Given the description of an element on the screen output the (x, y) to click on. 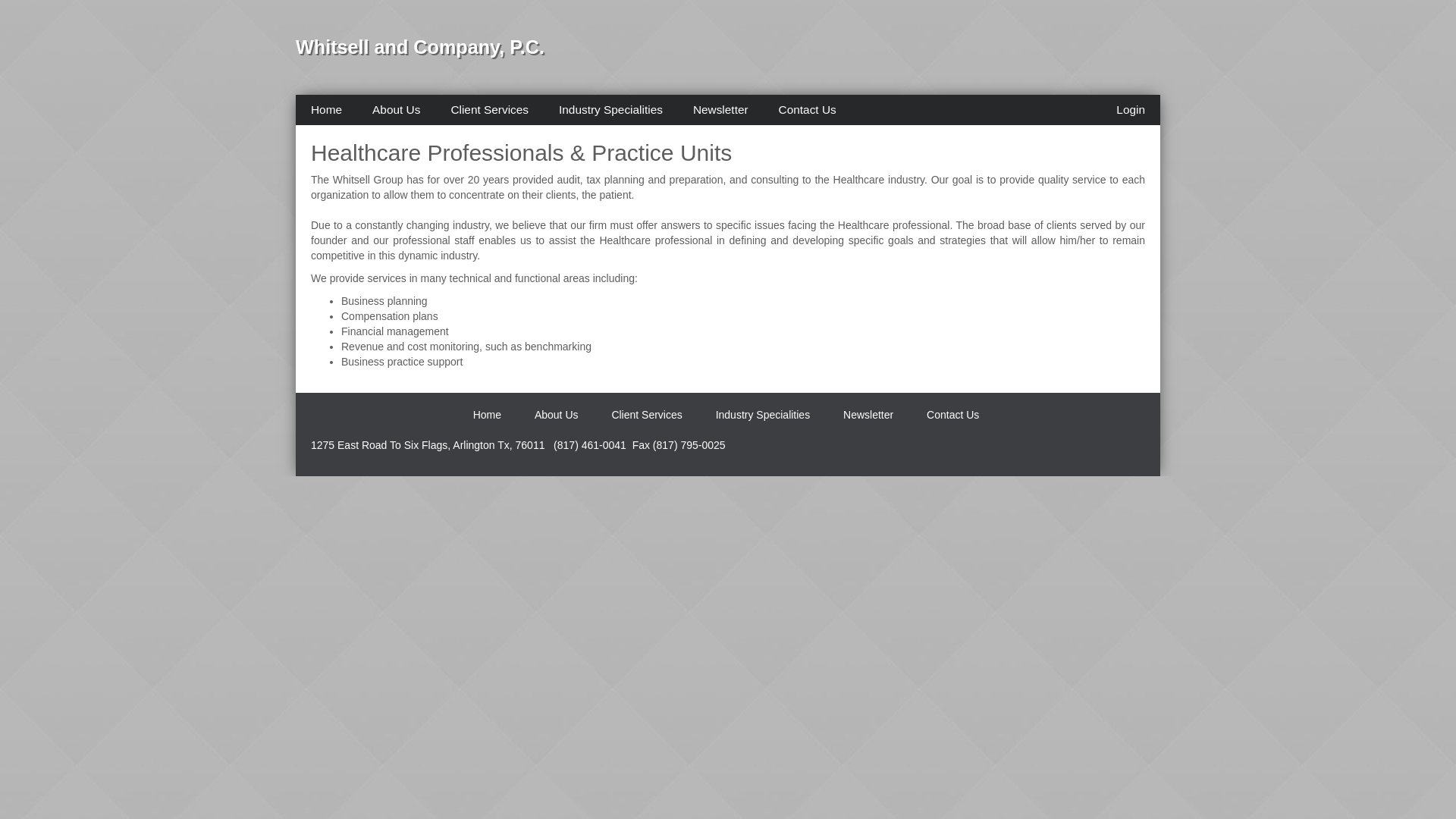
Whitsell and Company, P.C. (419, 46)
Newsletter (720, 110)
Client Services (646, 414)
Home (325, 110)
About Us (395, 110)
Login (1130, 110)
Client Services (489, 110)
Industry Specialities (610, 110)
Home page (419, 46)
Industry Specialities (763, 414)
Contact Us (952, 414)
About Us (556, 414)
Contact Us (806, 110)
Newsletter (868, 414)
Home (486, 414)
